Given the description of an element on the screen output the (x, y) to click on. 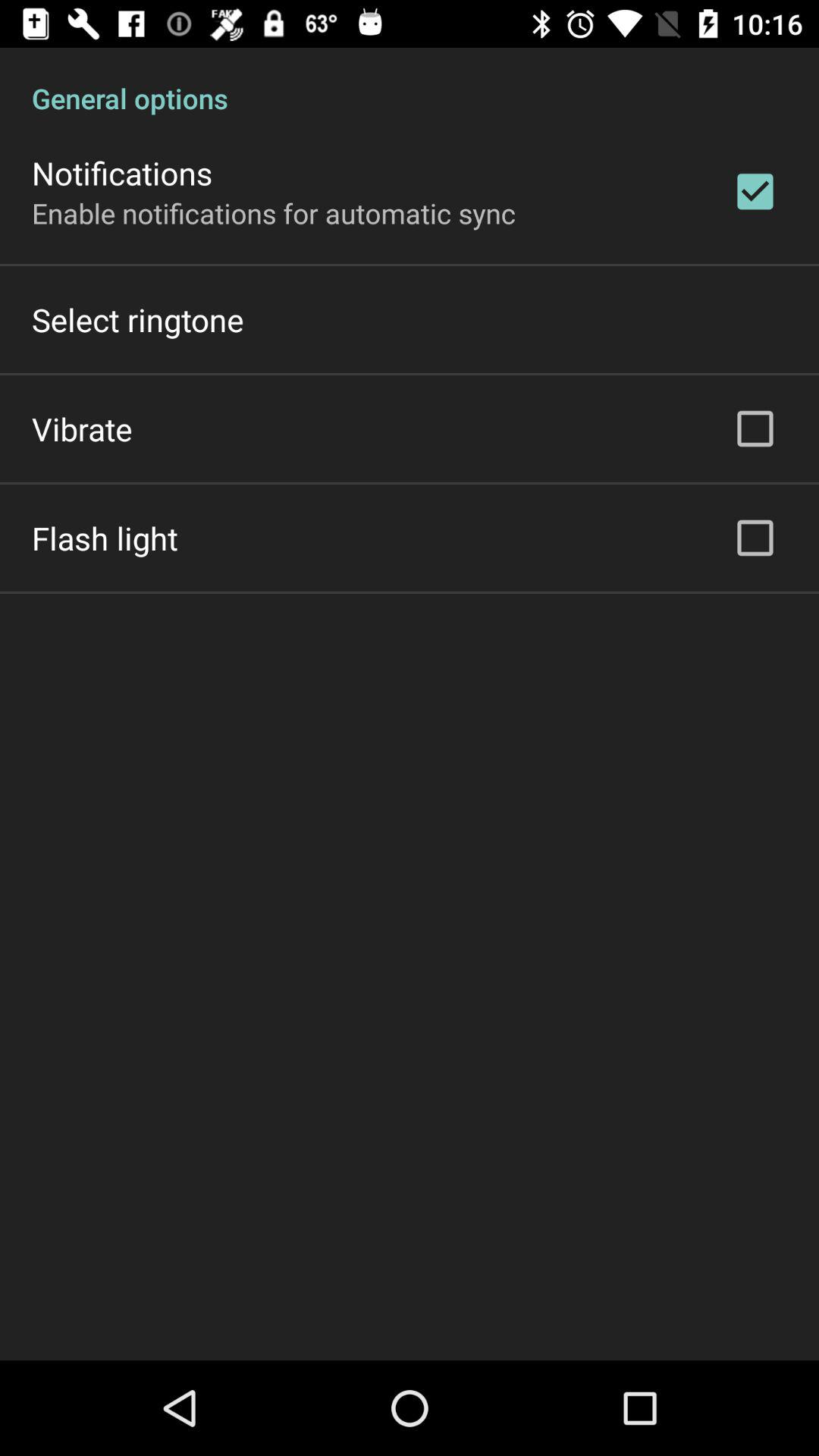
select icon above the notifications (409, 82)
